Given the description of an element on the screen output the (x, y) to click on. 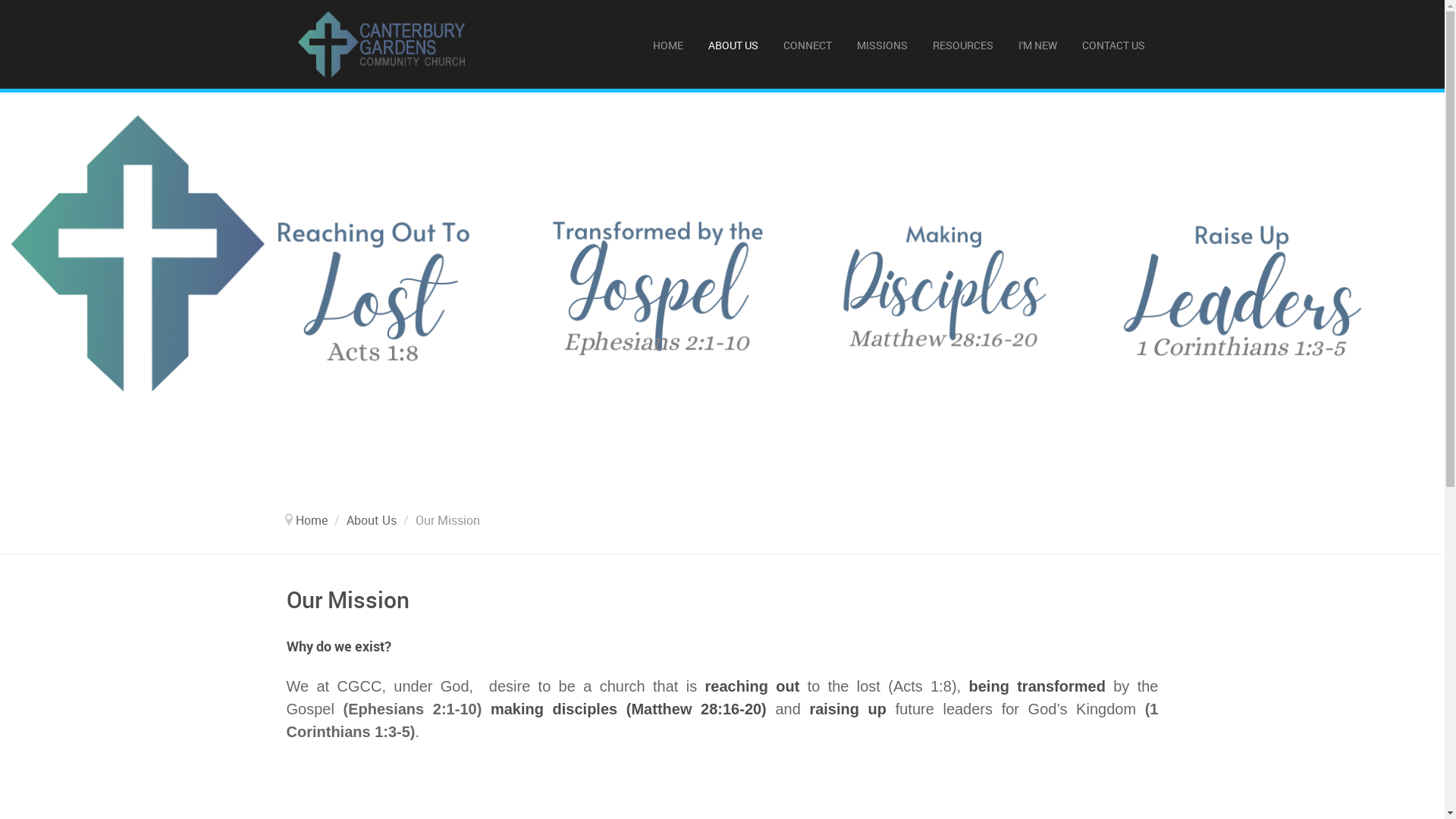
Canterbury Gardens Element type: hover (380, 43)
HOME Element type: text (668, 44)
Home Element type: text (311, 519)
